Given the description of an element on the screen output the (x, y) to click on. 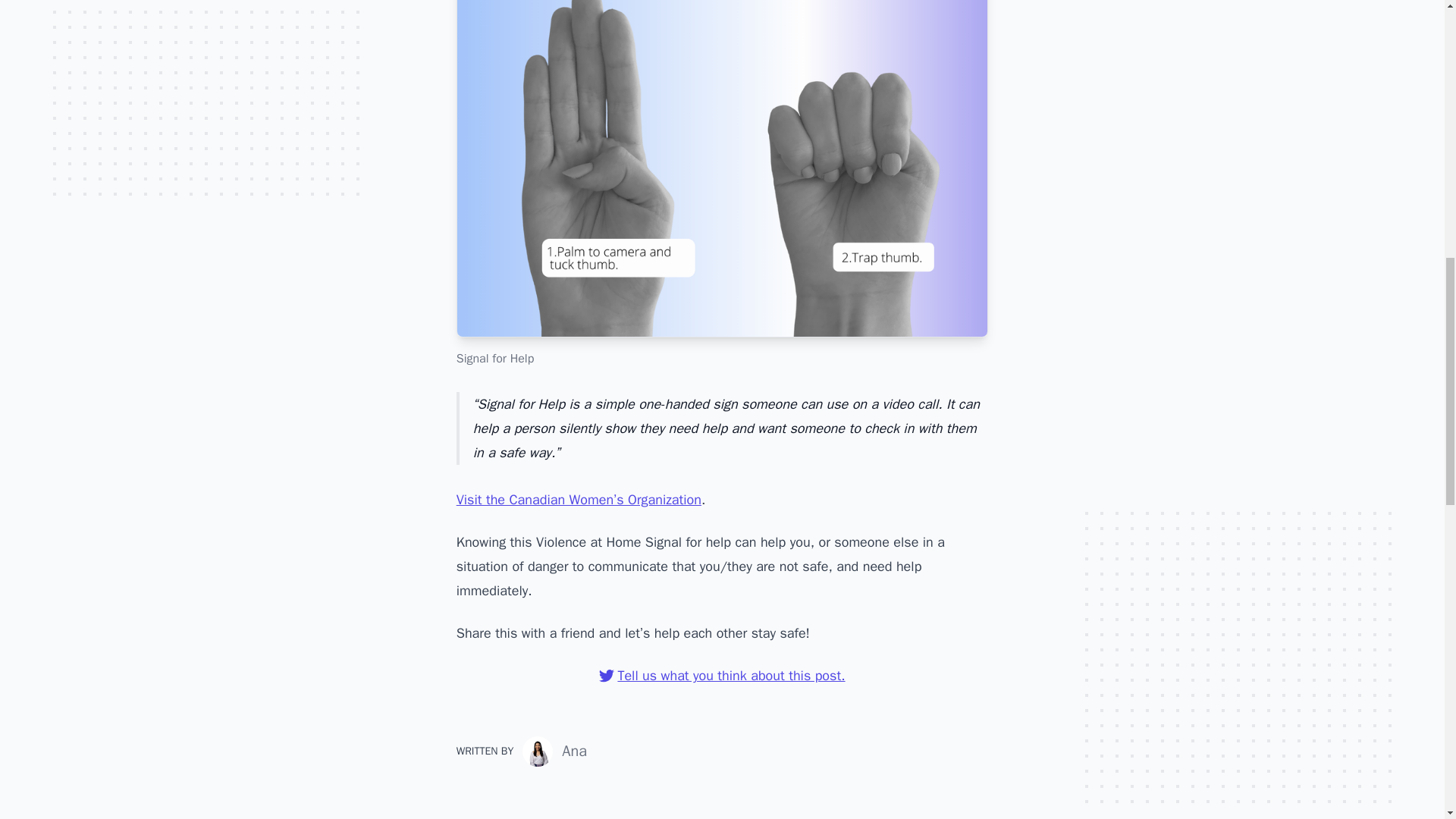
Tell us what you think about this post. (722, 675)
